Given the description of an element on the screen output the (x, y) to click on. 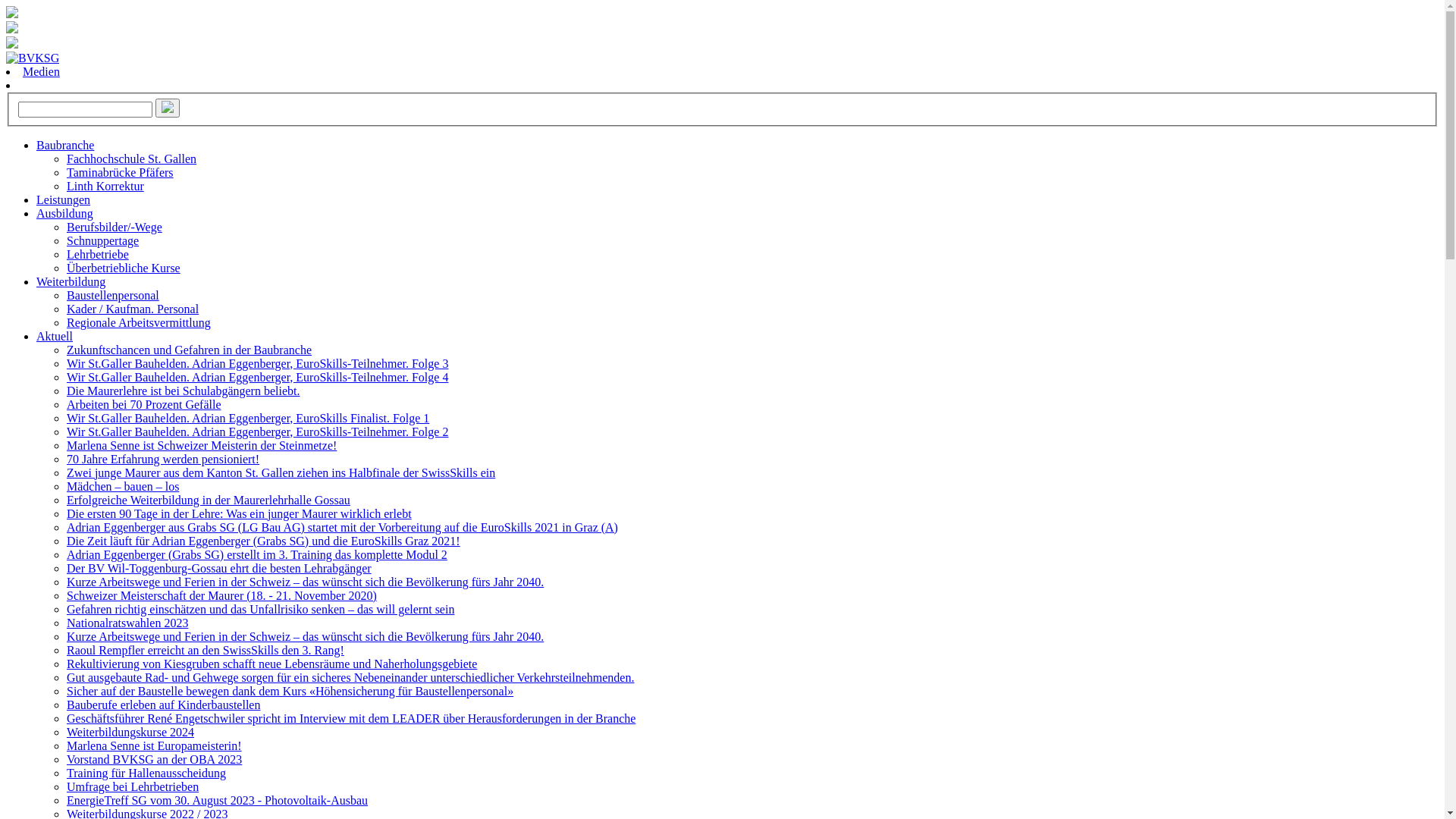
Fachhochschule St. Gallen Element type: text (131, 158)
Regionale Arbeitsvermittlung Element type: text (138, 322)
Schweizer Meisterschaft der Maurer (18. - 21. November 2020) Element type: text (221, 595)
Ausbildung Element type: text (64, 213)
Kader / Kaufman. Personal Element type: text (132, 308)
BVKSG Element type: hover (32, 58)
Linth Korrektur Element type: text (105, 185)
Raoul Rempfler erreicht an den SwissSkills den 3. Rang! Element type: text (205, 649)
Marlena Senne ist Europameisterin! Element type: text (153, 745)
EnergieTreff SG vom 30. August 2023 - Photovoltaik-Ausbau Element type: text (216, 799)
Schnuppertage Element type: text (102, 240)
Weiterbildung Element type: text (70, 281)
Berufsbilder/-Wege Element type: text (114, 226)
Vorstand BVKSG an der OBA 2023 Element type: text (153, 759)
Lehrbetriebe Element type: text (97, 253)
Erfolgreiche Weiterbildung in der Maurerlehrhalle Gossau Element type: text (208, 499)
Zukunftschancen und Gefahren in der Baubranche Element type: text (188, 349)
Weiterbildungskurse 2024 Element type: text (130, 731)
Leistungen Element type: text (63, 199)
Umfrage bei Lehrbetrieben Element type: text (132, 786)
Aktuell Element type: text (54, 335)
70 Jahre Erfahrung werden pensioniert! Element type: text (162, 458)
Baubranche Element type: text (65, 144)
Medien Element type: text (40, 71)
Nationalratswahlen 2023 Element type: text (127, 622)
Marlena Senne ist Schweizer Meisterin der Steinmetze! Element type: text (201, 445)
Baustellenpersonal Element type: text (112, 294)
